Given the description of an element on the screen output the (x, y) to click on. 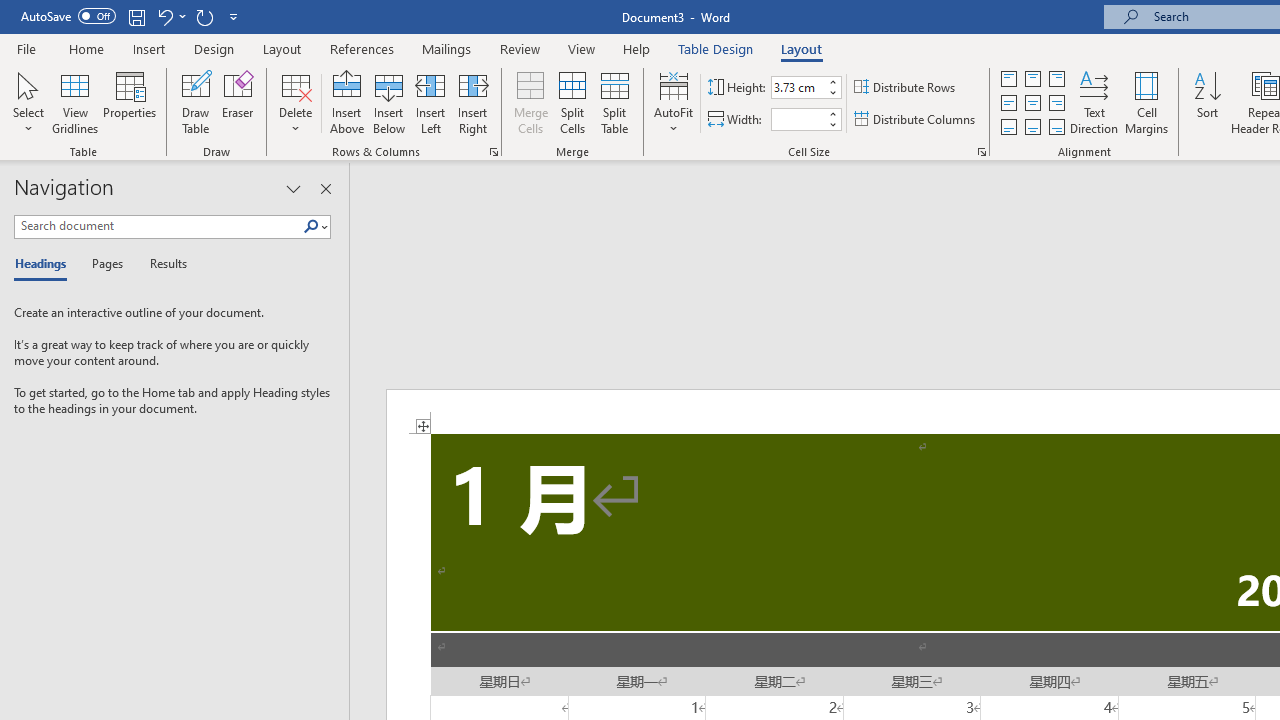
Repeat Doc Close (204, 15)
Align Center Right (1056, 103)
Properties... (981, 151)
Less (832, 124)
Align Center (1032, 103)
Insert Above (347, 102)
Undo Increase Indent (164, 15)
